Given the description of an element on the screen output the (x, y) to click on. 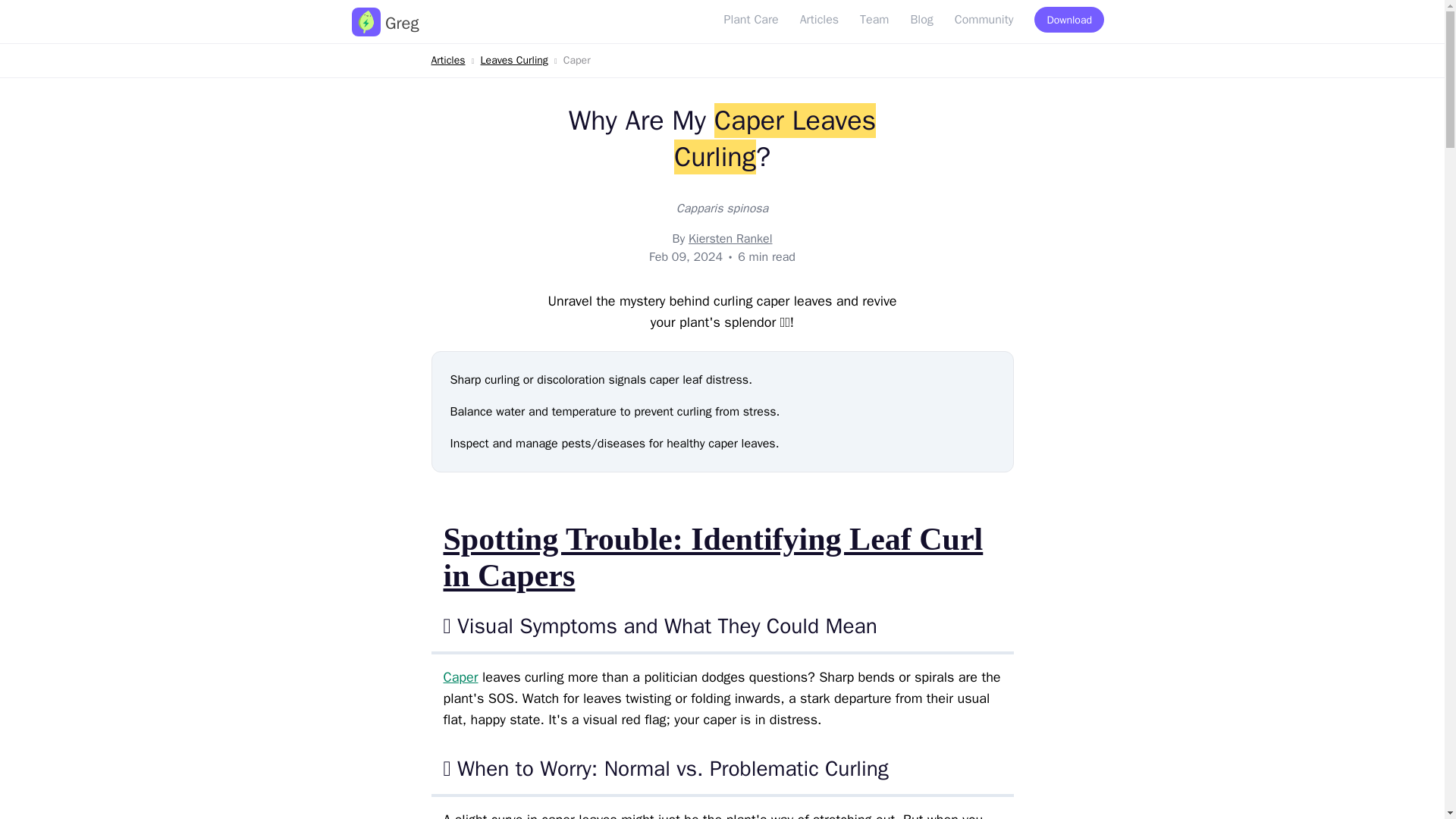
Caper (459, 677)
Greg (385, 23)
Articles (818, 19)
Team (874, 19)
Articles (447, 60)
Plant Care (750, 19)
Leaves Curling (514, 60)
Kiersten Rankel (730, 238)
Community (984, 19)
Download (1069, 19)
